Given the description of an element on the screen output the (x, y) to click on. 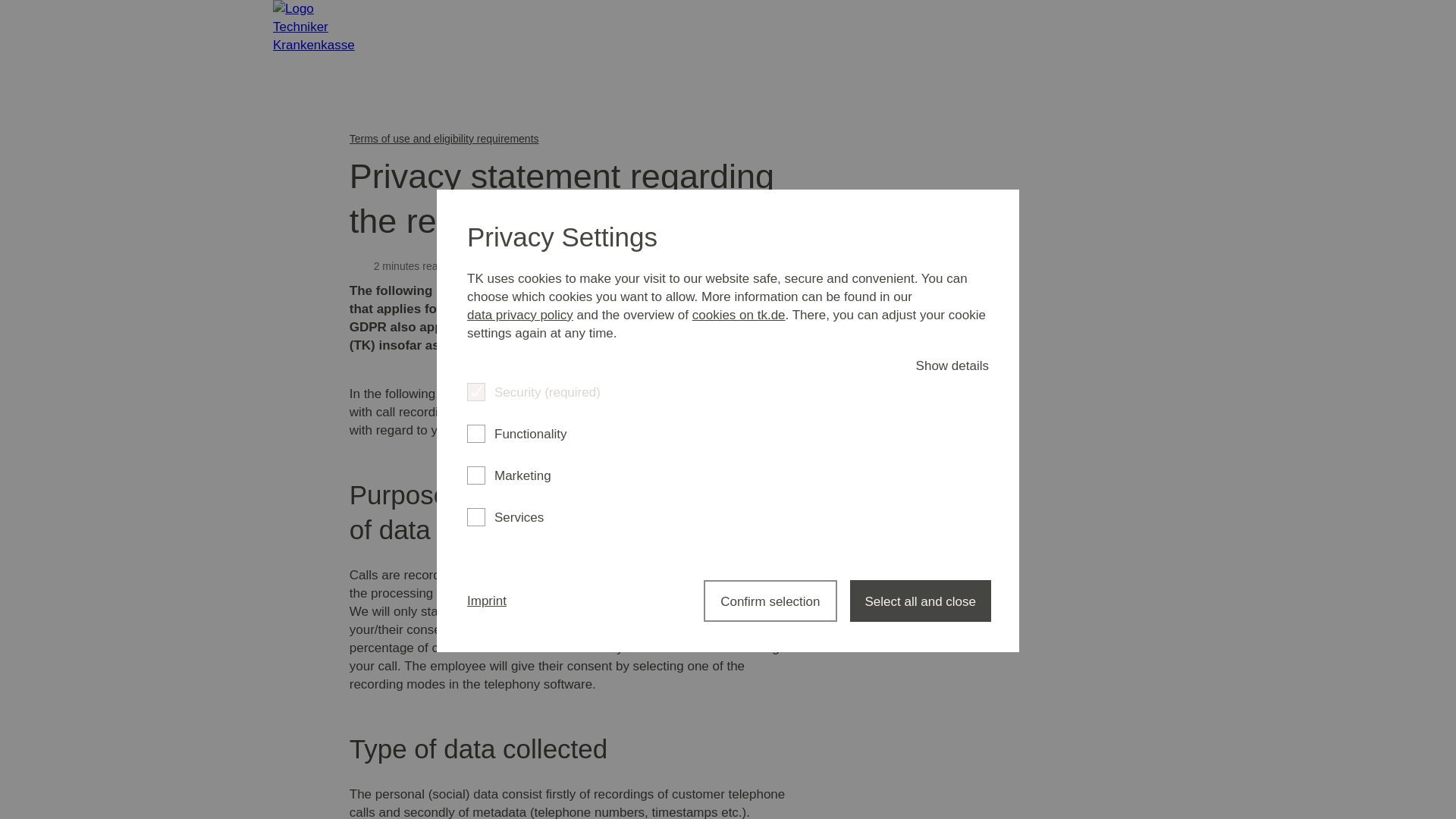
To home page (318, 45)
